Given the description of an element on the screen output the (x, y) to click on. 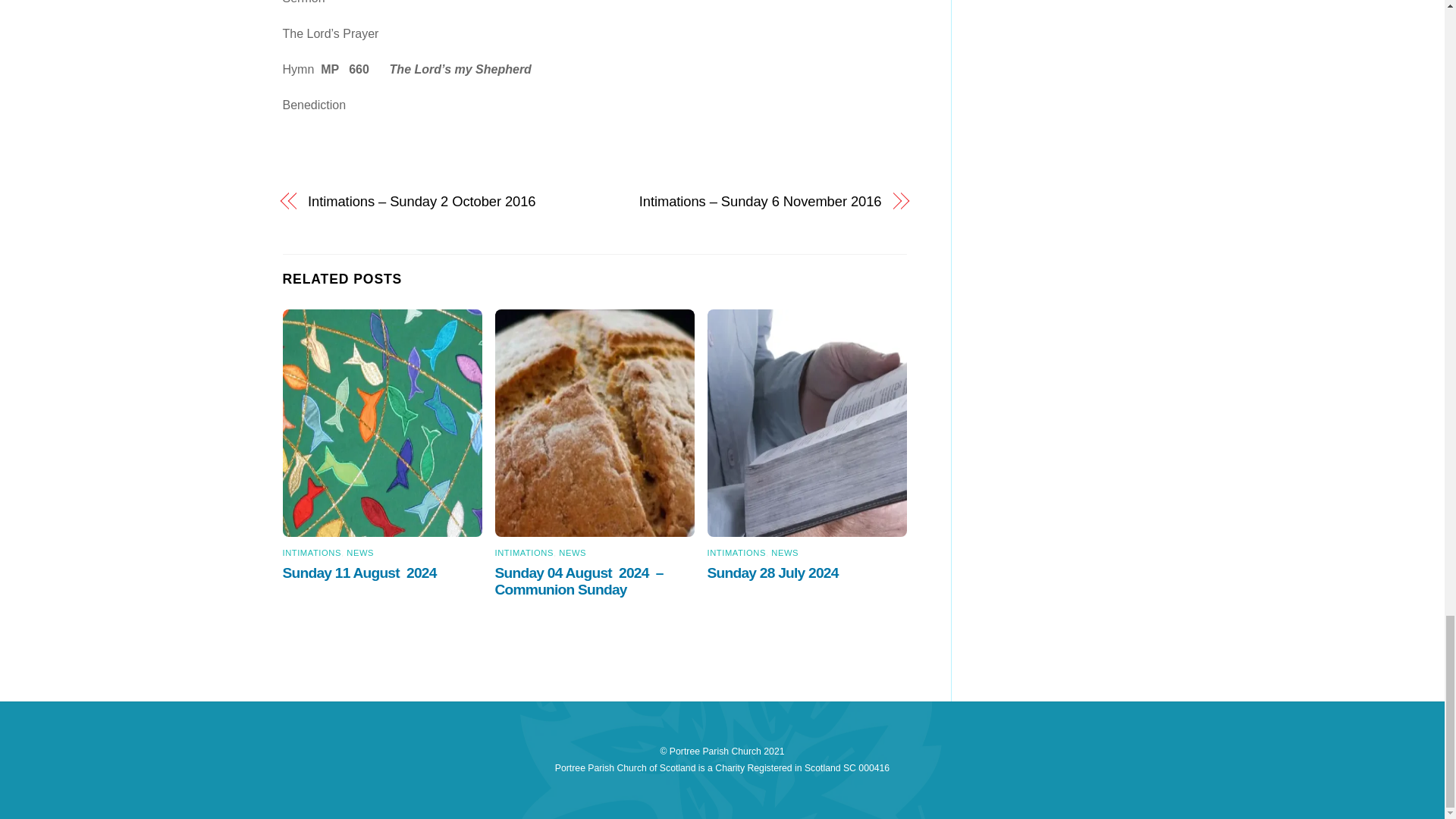
NEWS (360, 552)
Sunday 28 July 2024  (775, 572)
NEWS (572, 552)
INTIMATIONS (736, 552)
INTIMATIONS (524, 552)
Sunday 11 August  2024  (360, 572)
NEWS (784, 552)
INTIMATIONS (311, 552)
